Given the description of an element on the screen output the (x, y) to click on. 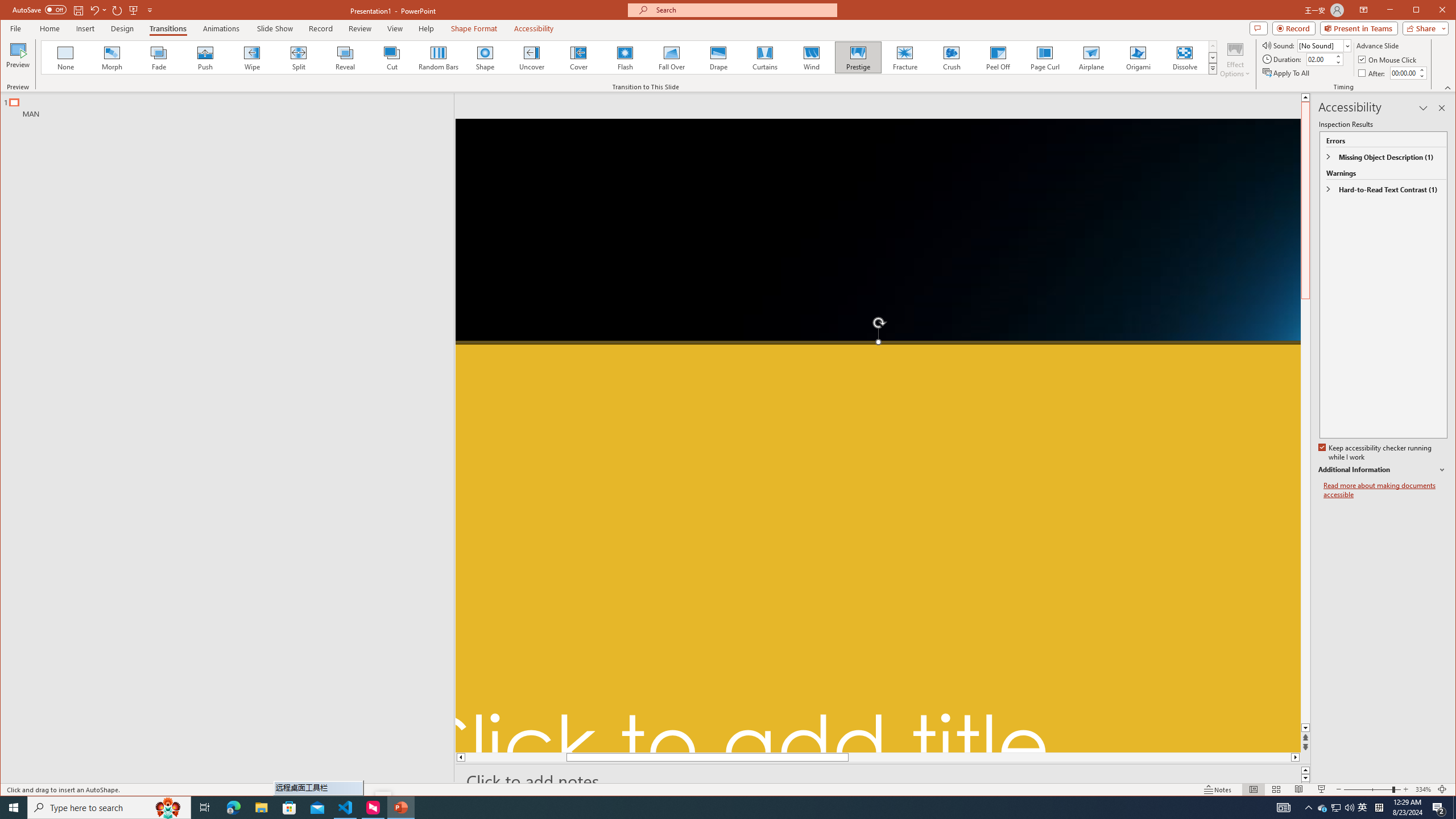
Peel Off (998, 57)
Quick Access Toolbar (83, 9)
Present in Teams (1358, 28)
User Promoted Notification Area (1336, 807)
Crush (951, 57)
Reveal (344, 57)
AutomationID: 4105 (1283, 807)
Customize Quick Access Toolbar (150, 9)
Less (1421, 75)
Page Curl (1045, 57)
Accessibility (534, 28)
Line up (1305, 96)
Row up (1212, 46)
Zoom 334% (1422, 789)
